Given the description of an element on the screen output the (x, y) to click on. 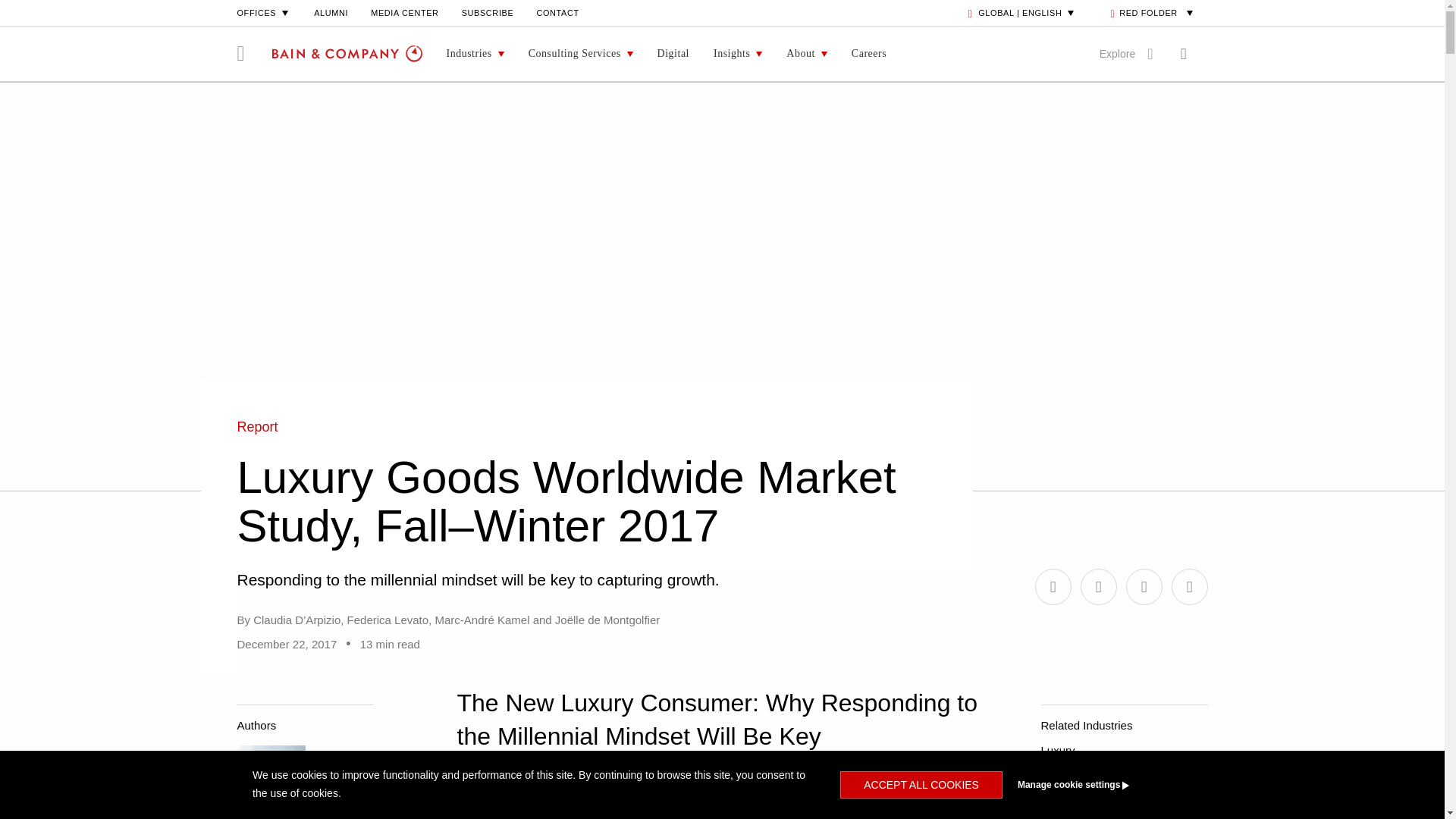
OFFICES (263, 12)
Manage cookie settings (1101, 784)
ACCEPT ALL COOKIES (921, 784)
